Given the description of an element on the screen output the (x, y) to click on. 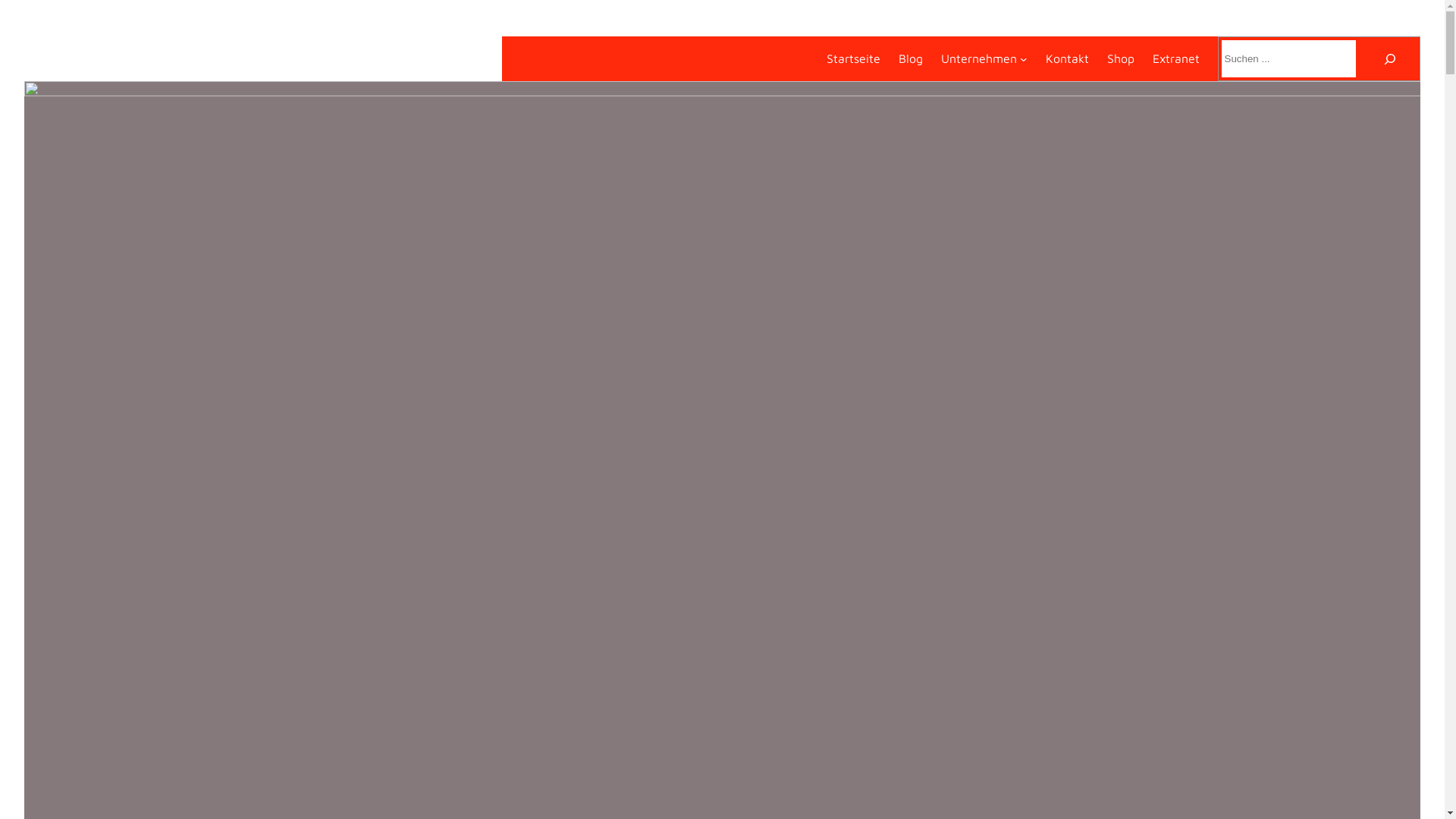
Extranet Element type: text (1175, 58)
Unternehmen Element type: text (978, 58)
Shop Element type: text (1120, 58)
Blog Element type: text (910, 58)
Startseite Element type: text (853, 58)
Kontakt Element type: text (1066, 58)
